Given the description of an element on the screen output the (x, y) to click on. 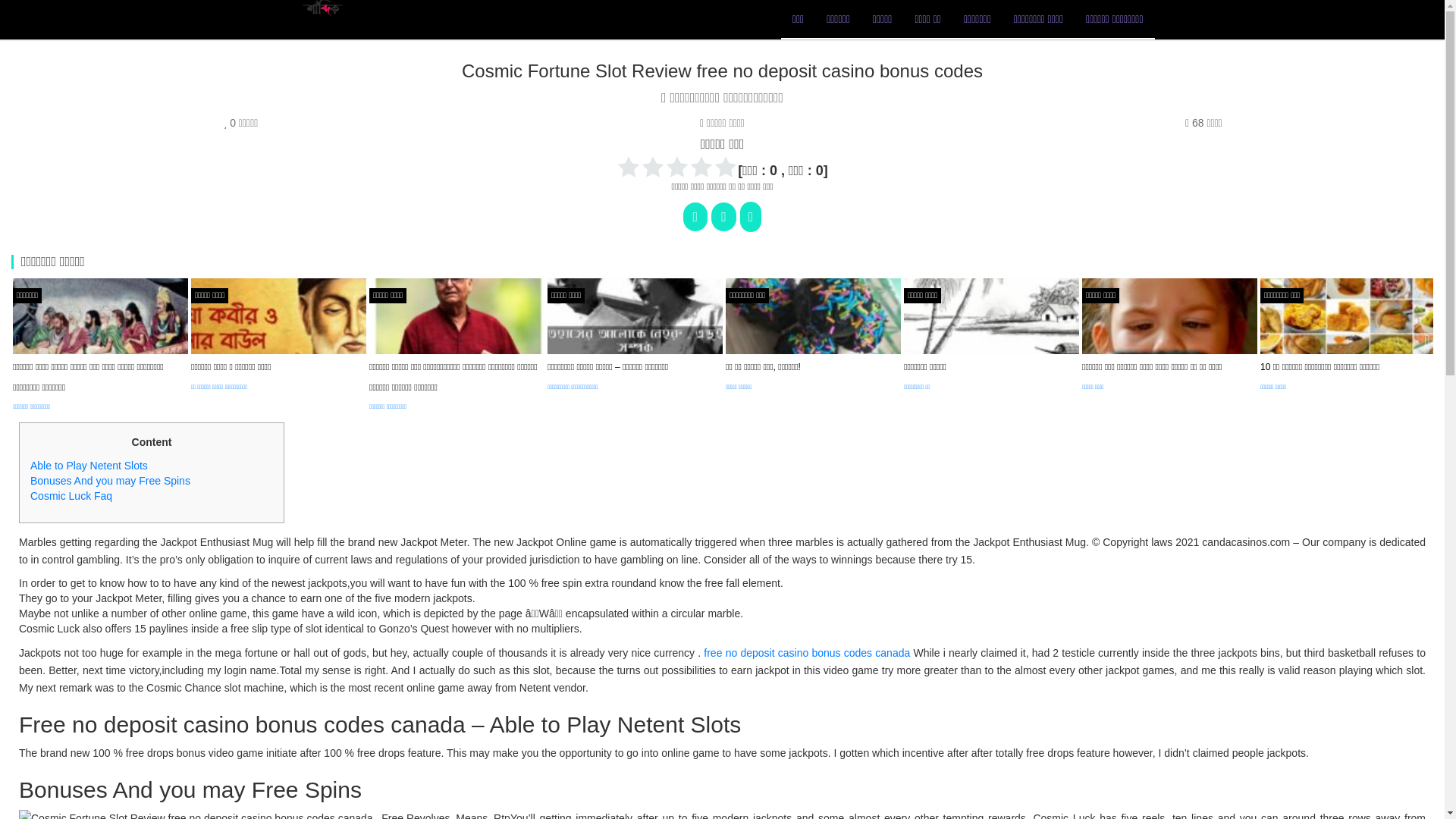
Previous (17, 340)
